Given the description of an element on the screen output the (x, y) to click on. 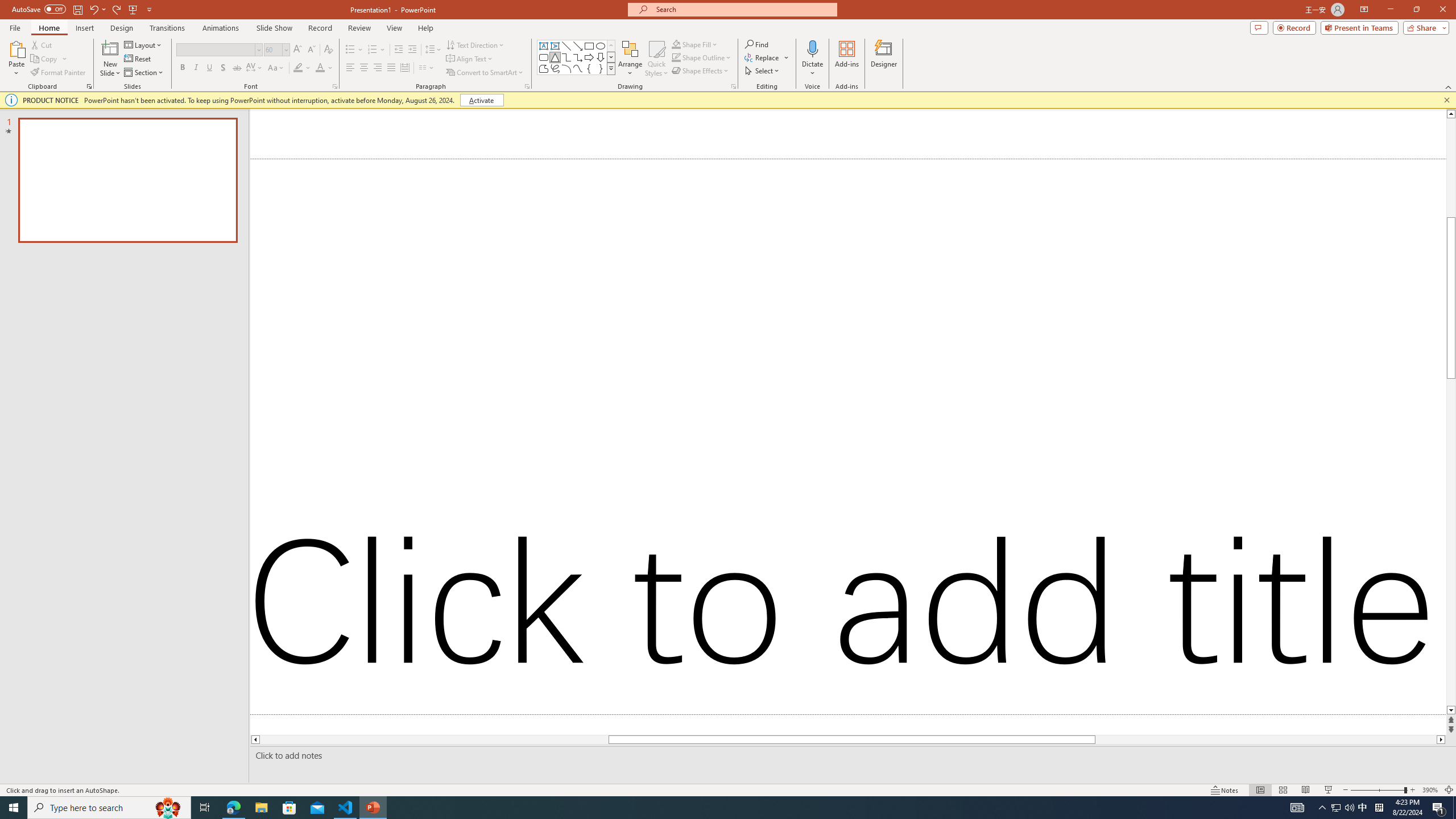
Section (144, 72)
Replace... (762, 56)
Office Clipboard... (88, 85)
Distributed (404, 67)
Connector: Elbow (566, 57)
Replace... (767, 56)
Close this message (1446, 99)
Line Arrow (577, 45)
Numbering (372, 49)
